Given the description of an element on the screen output the (x, y) to click on. 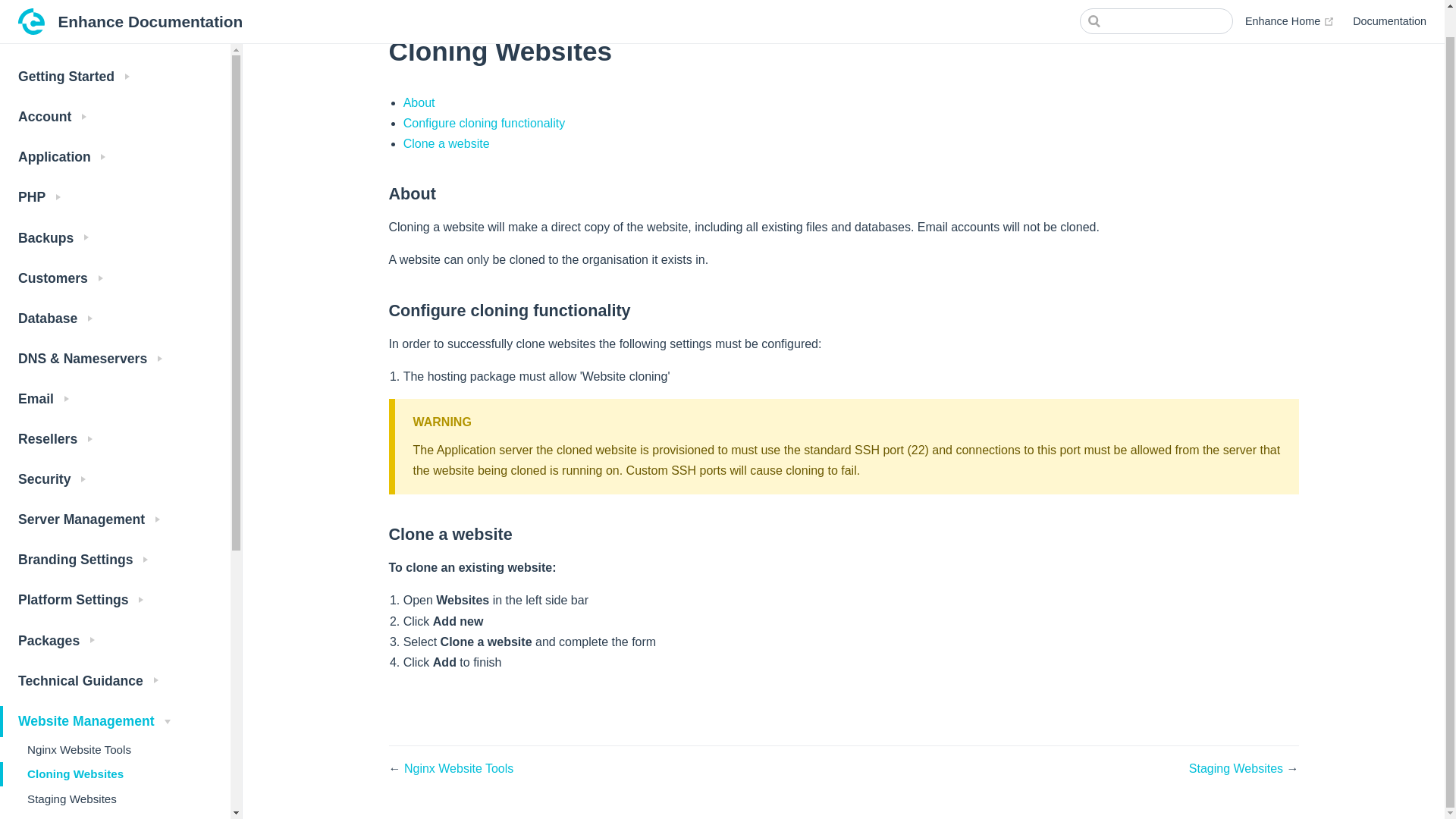
PHP (115, 170)
Nginx Website Tools (115, 721)
Staging Websites (115, 770)
Platform Settings (115, 572)
Customers (115, 250)
Getting Started (115, 50)
Cloning Websites (115, 746)
Website Management (115, 694)
Application (115, 130)
Packages (115, 613)
Backups (115, 210)
Server Management (115, 492)
Resellers (115, 411)
Enhance Documentation (130, 4)
Documentation (1389, 1)
